Given the description of an element on the screen output the (x, y) to click on. 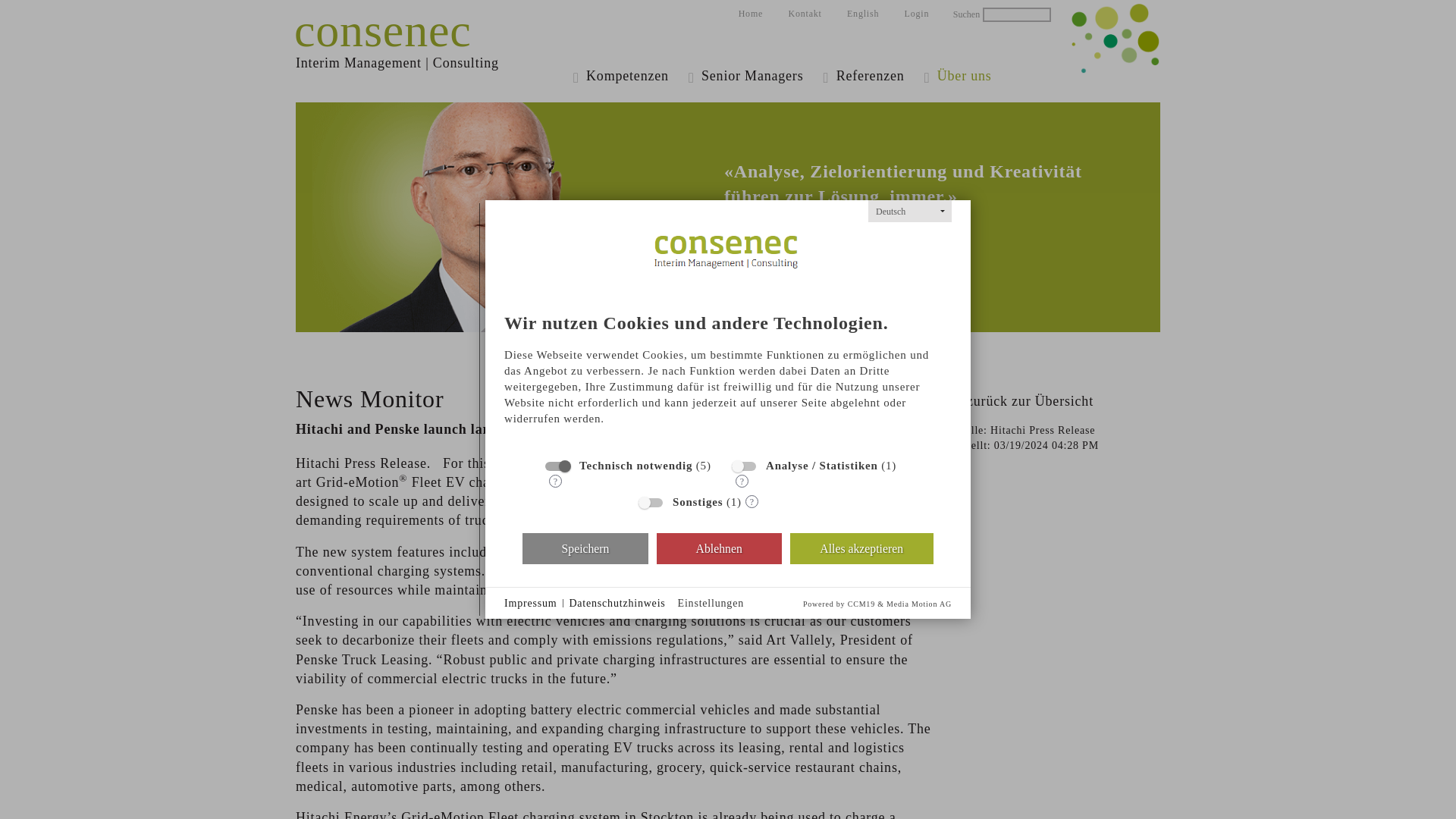
Home (750, 13)
Kontakt (804, 13)
Consenec (432, 74)
English (863, 13)
Referenzen (865, 75)
News Monitor Detail (863, 13)
Referenzen (865, 75)
Senior Managers (747, 75)
Kompetenzen (622, 75)
Kompetenzen (622, 75)
